Given the description of an element on the screen output the (x, y) to click on. 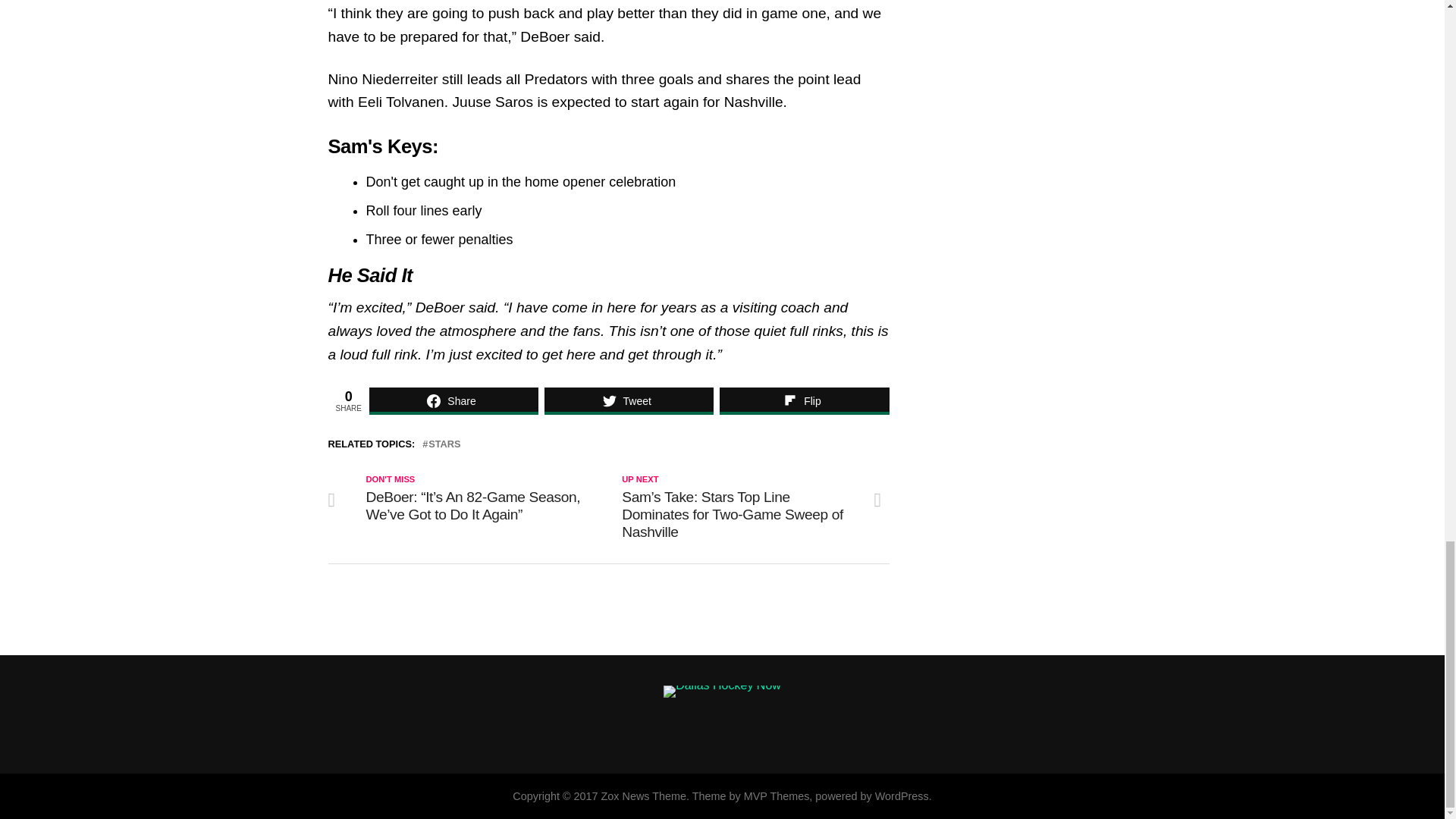
Share on Flip (803, 400)
Flip (803, 400)
Share on Share (453, 400)
STARS (444, 444)
Share on Tweet (628, 400)
Share (453, 400)
Tweet (628, 400)
